Given the description of an element on the screen output the (x, y) to click on. 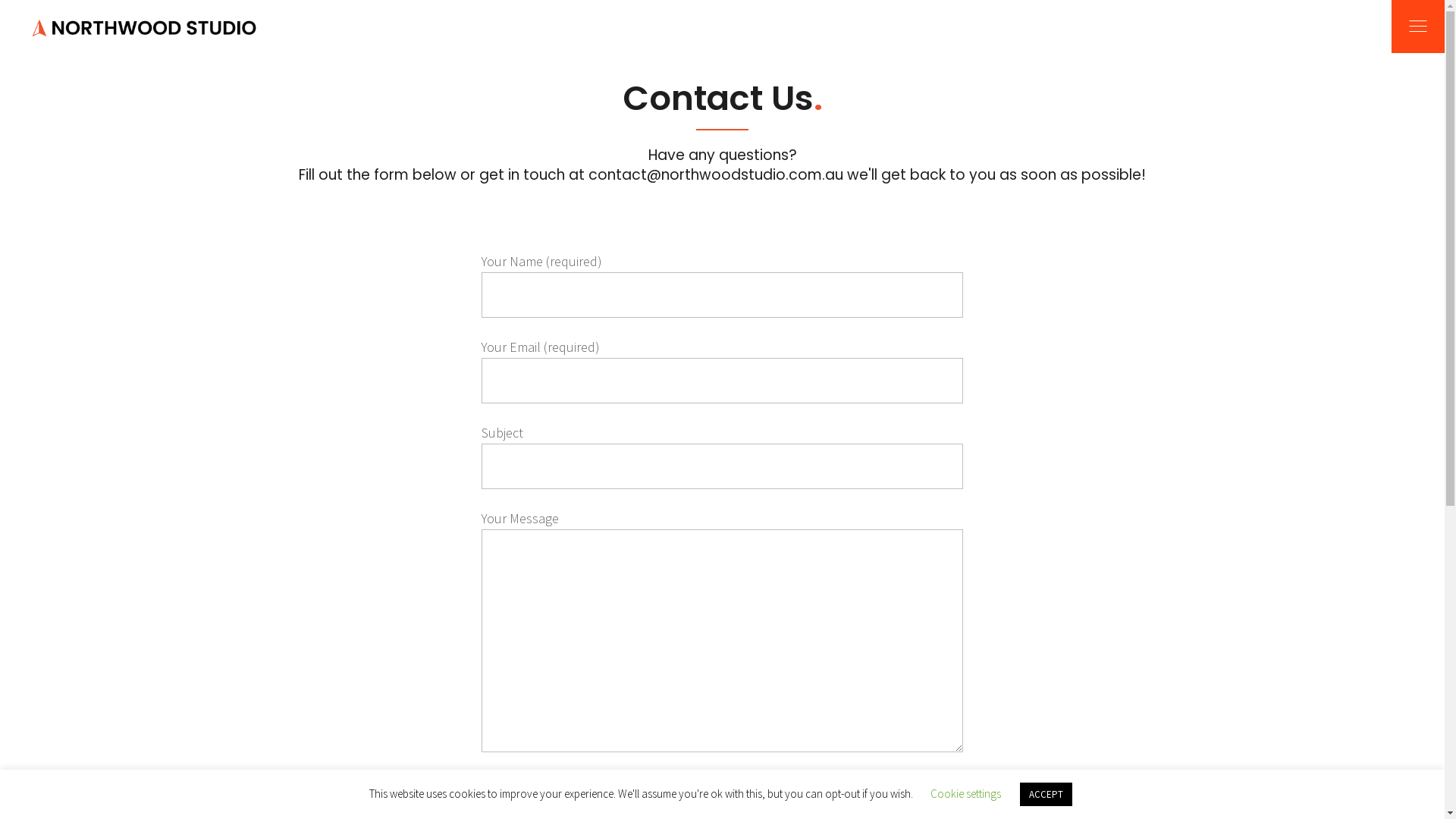
ACCEPT Element type: text (1045, 794)
Cookie settings Element type: text (964, 793)
